Given the description of an element on the screen output the (x, y) to click on. 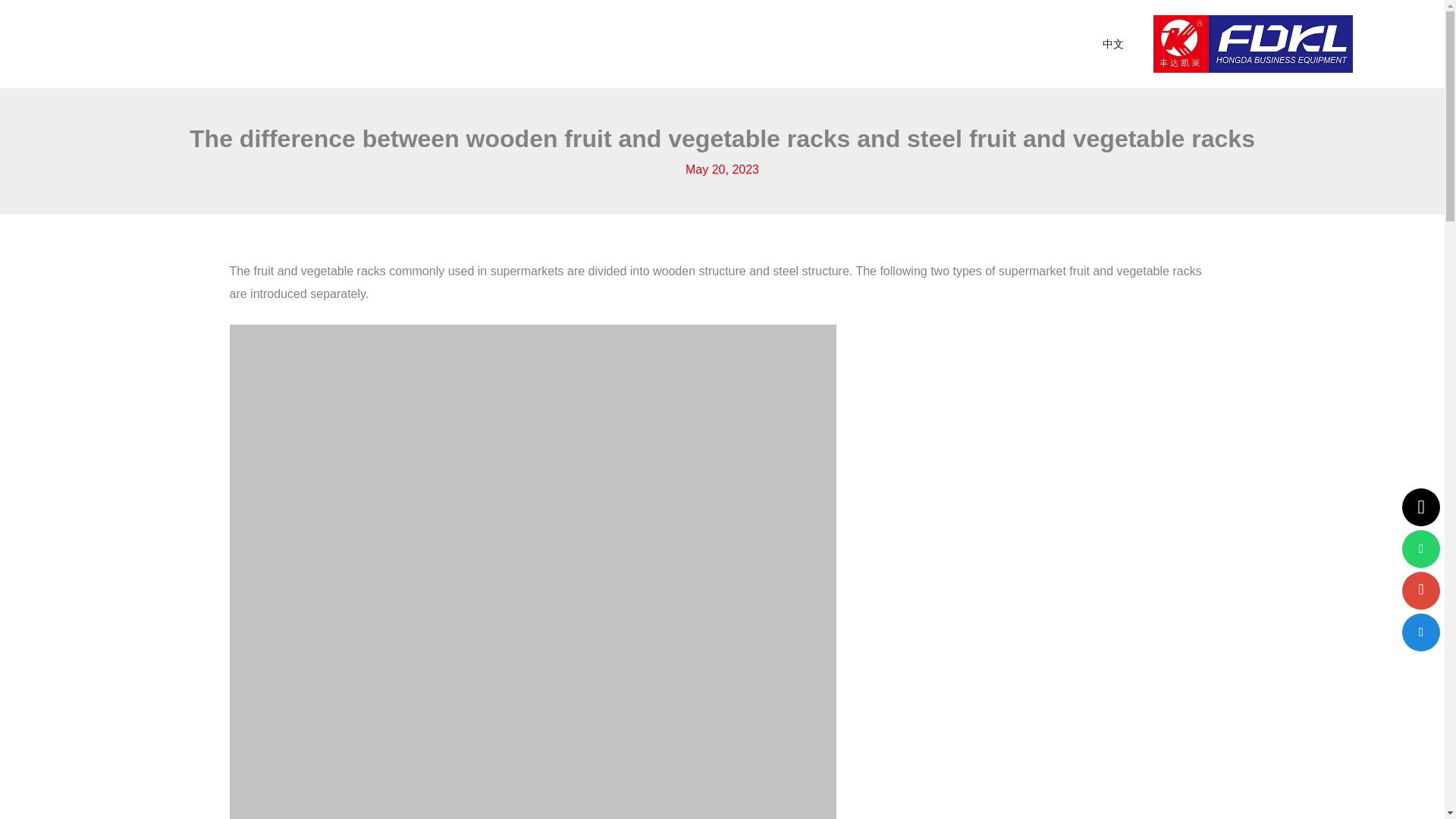
EXHIBITION (703, 43)
COMPANY (591, 43)
HOME (384, 43)
CONTACT US (824, 43)
PRODUCTS (480, 43)
